Given the description of an element on the screen output the (x, y) to click on. 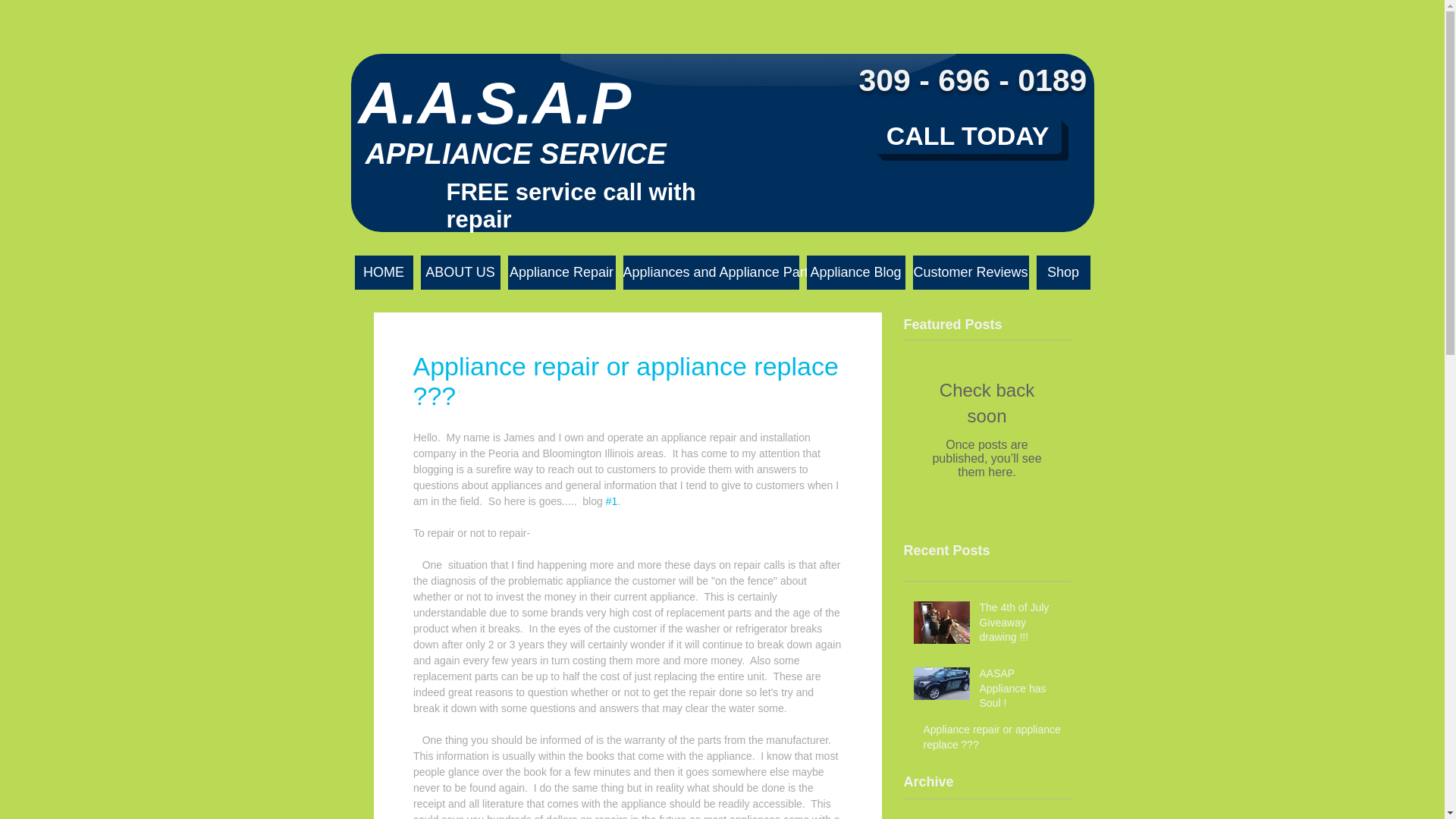
HOME (384, 272)
CALL TODAY (967, 135)
Appliance Repair (561, 272)
Appliance Blog (855, 272)
Appliance repair or appliance replace ??? (992, 740)
Shop (1062, 272)
The 4th of July Giveaway drawing !!! (1020, 625)
Customer Reviews (970, 272)
ABOUT US (459, 272)
AASAP Appliance has Soul ! (1020, 691)
